Given the description of an element on the screen output the (x, y) to click on. 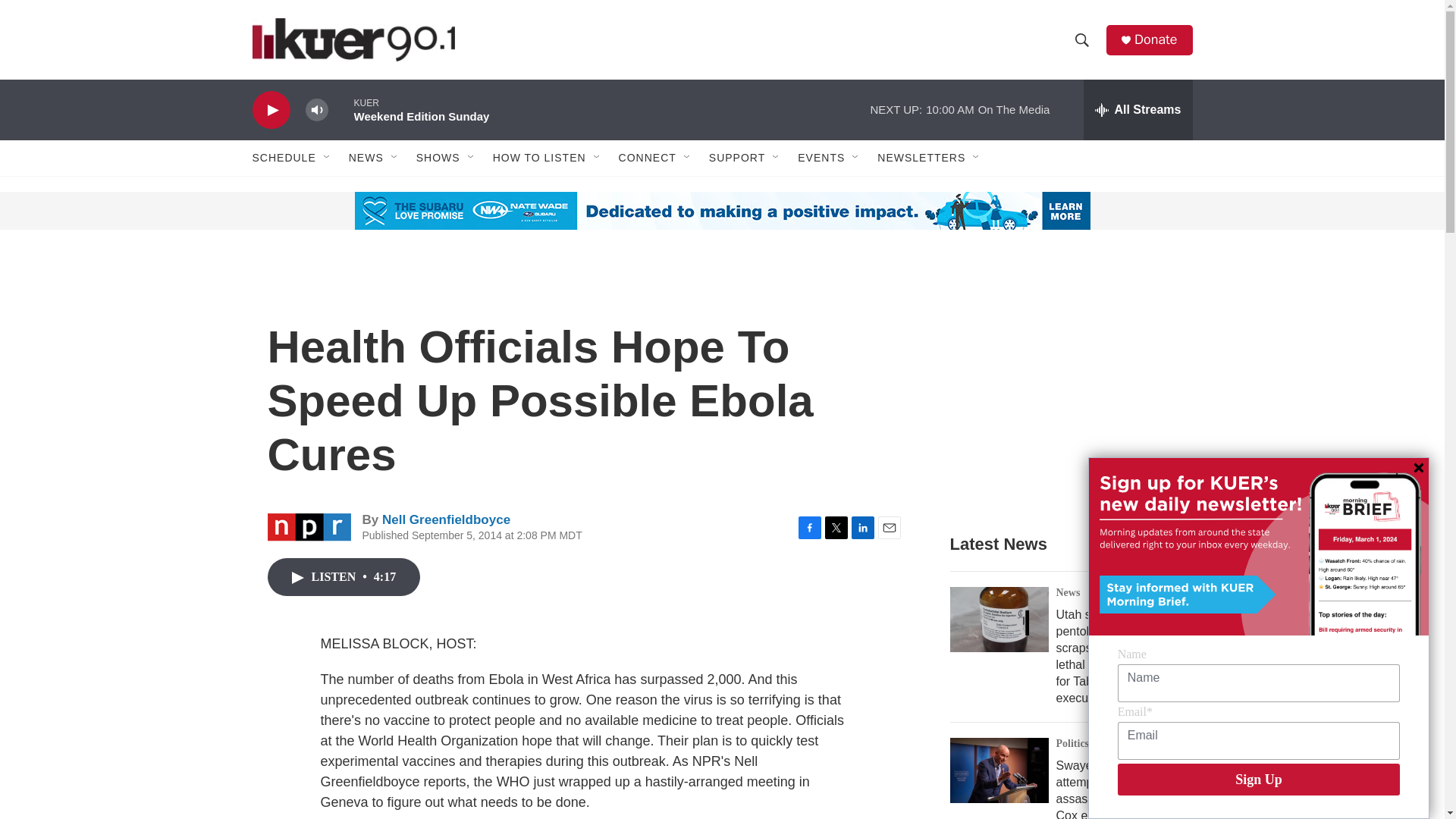
Sign Up (1259, 779)
Close (1418, 468)
3rd party ad content (1062, 388)
3rd party ad content (367, 210)
